Given the description of an element on the screen output the (x, y) to click on. 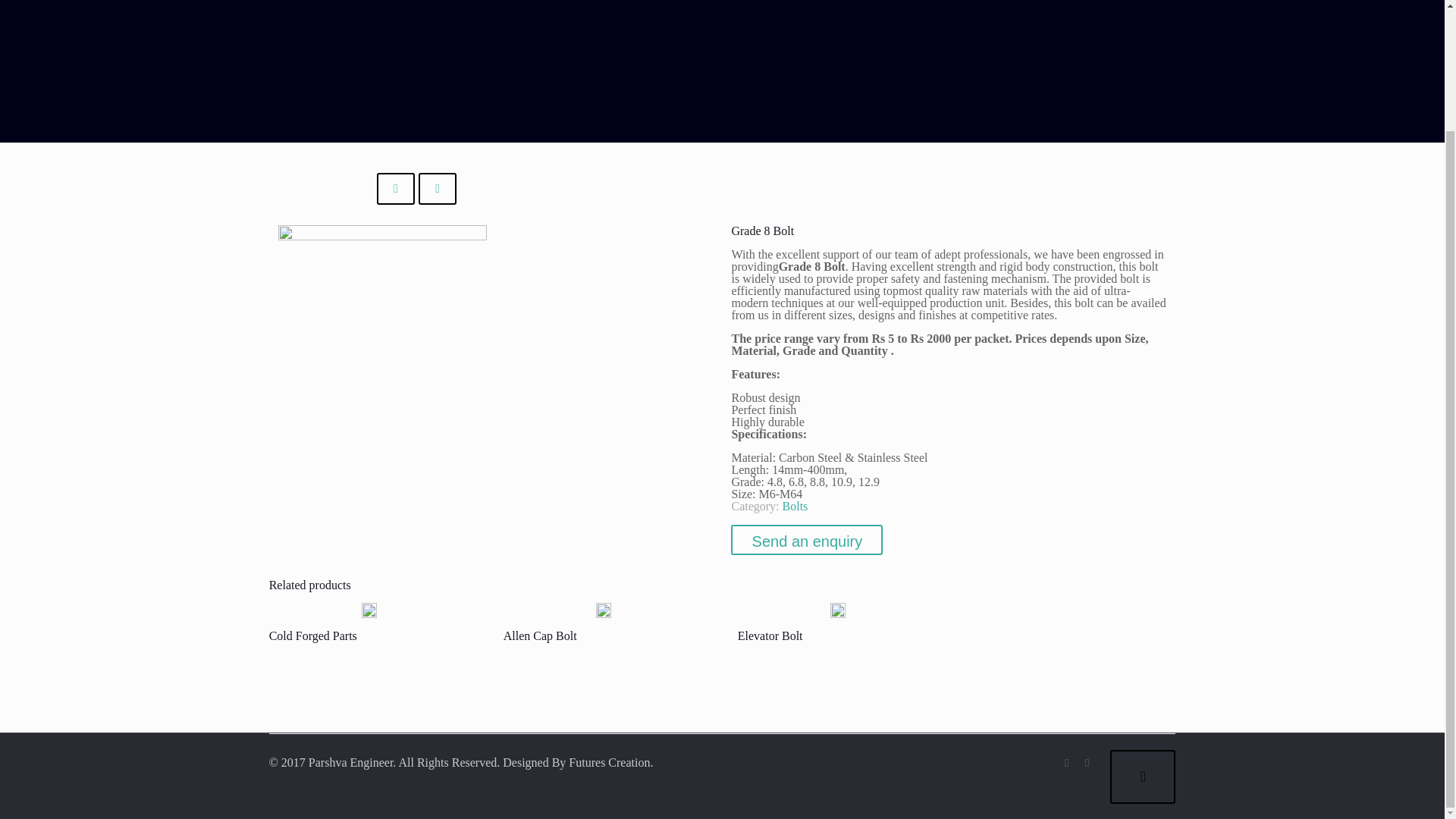
Bolts (795, 505)
Send an enquiry (806, 539)
Twitter (1086, 762)
Allen Cap Bolt (539, 635)
Cold Forged Parts (312, 635)
Elevator Bolt (770, 635)
Facebook (1066, 762)
